Given the description of an element on the screen output the (x, y) to click on. 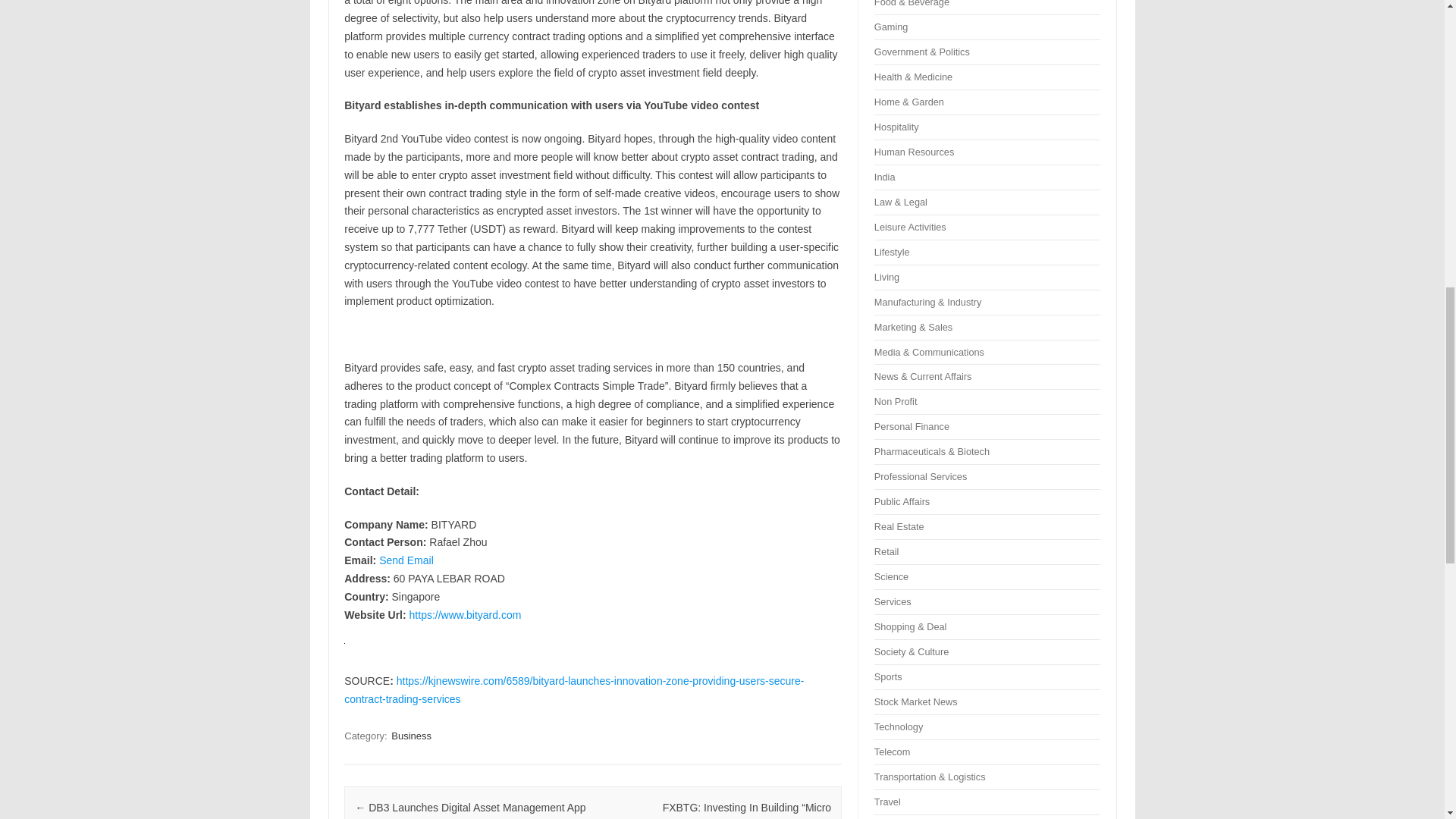
Business (411, 735)
Send Email (405, 560)
